Given the description of an element on the screen output the (x, y) to click on. 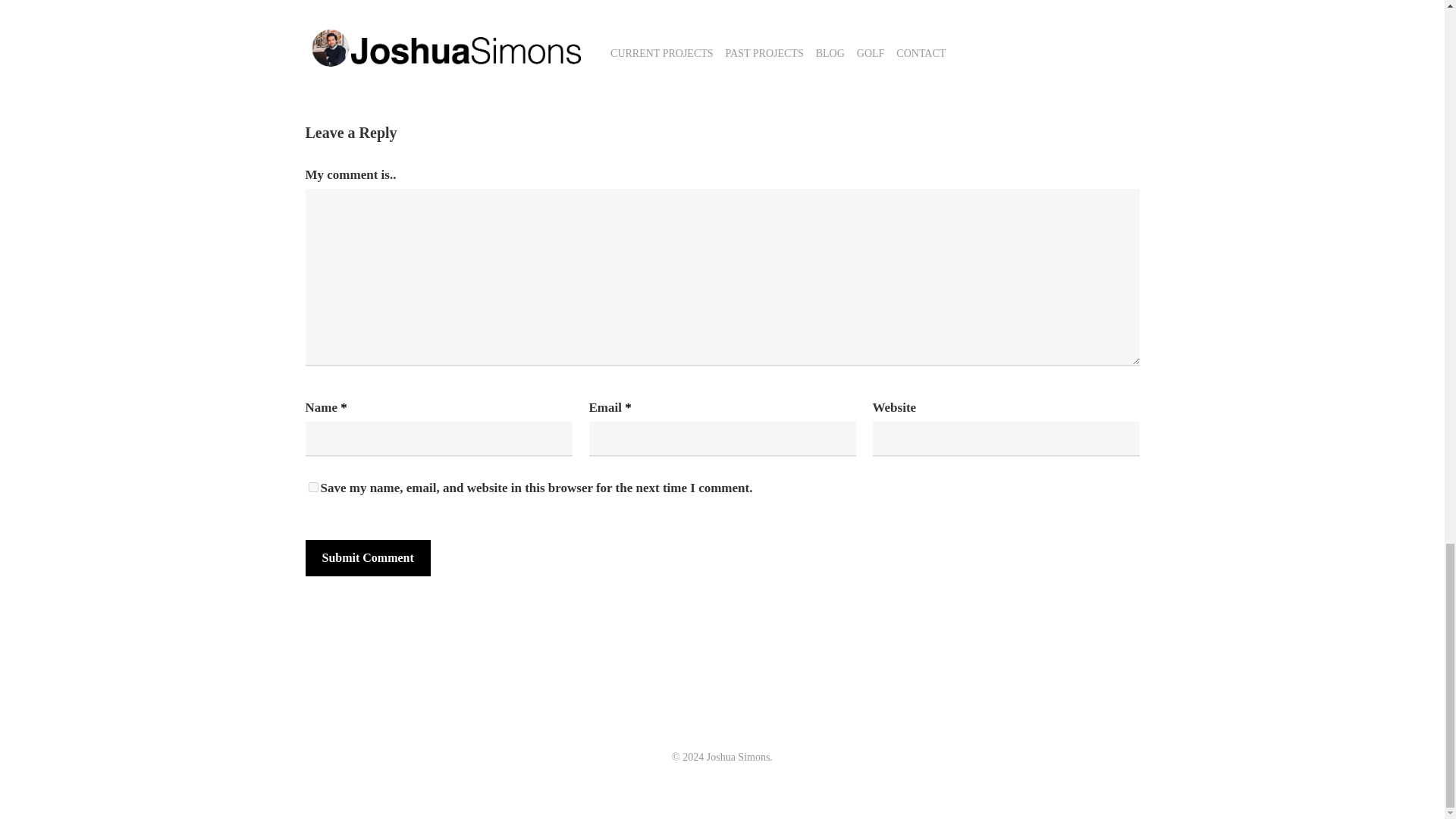
Submit Comment (366, 557)
yes (312, 486)
Submit Comment (366, 557)
